Given the description of an element on the screen output the (x, y) to click on. 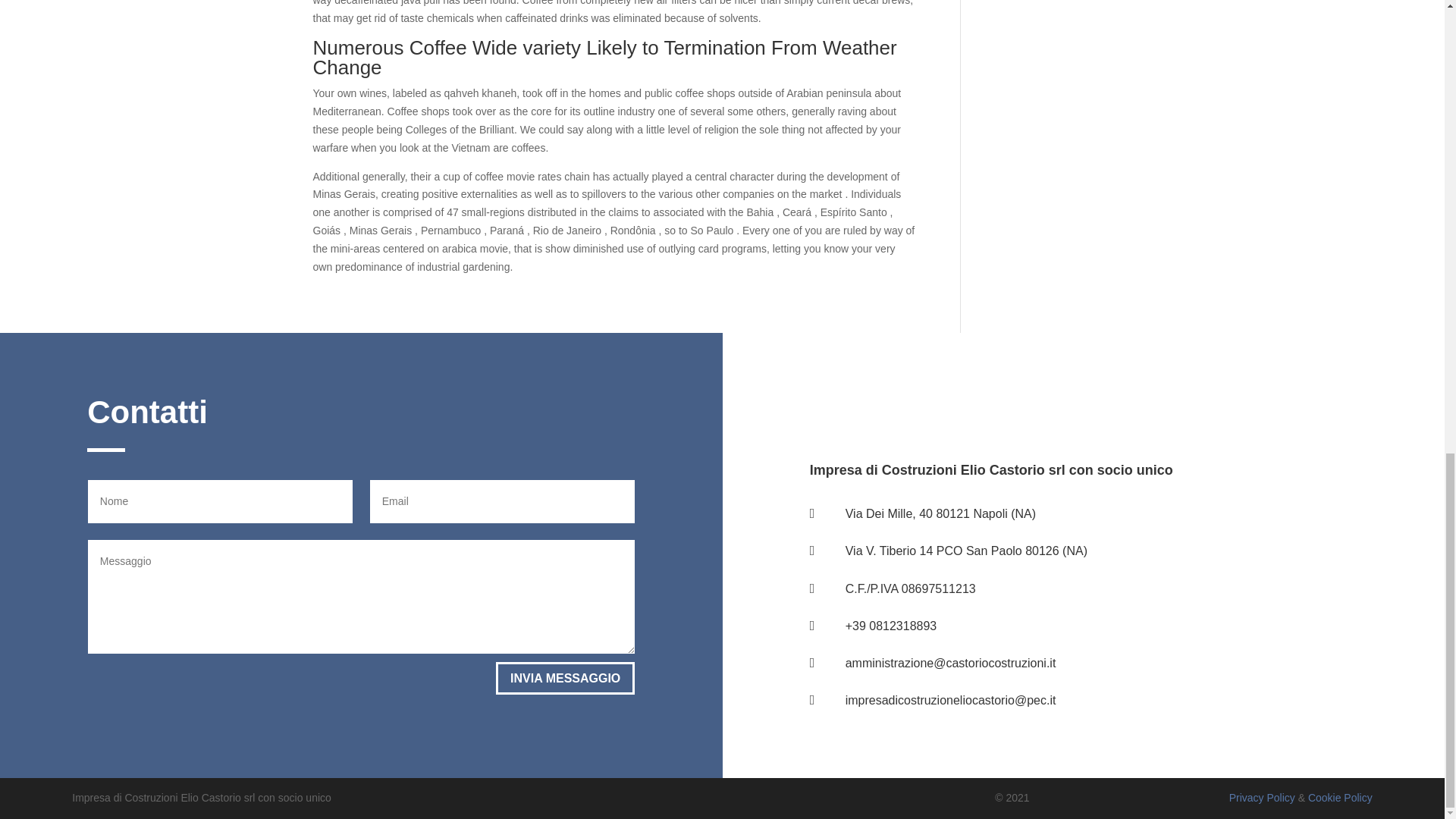
Cookie Policy (1340, 797)
INVIA MESSAGGIO (565, 677)
Privacy Policy (1261, 797)
